Given the description of an element on the screen output the (x, y) to click on. 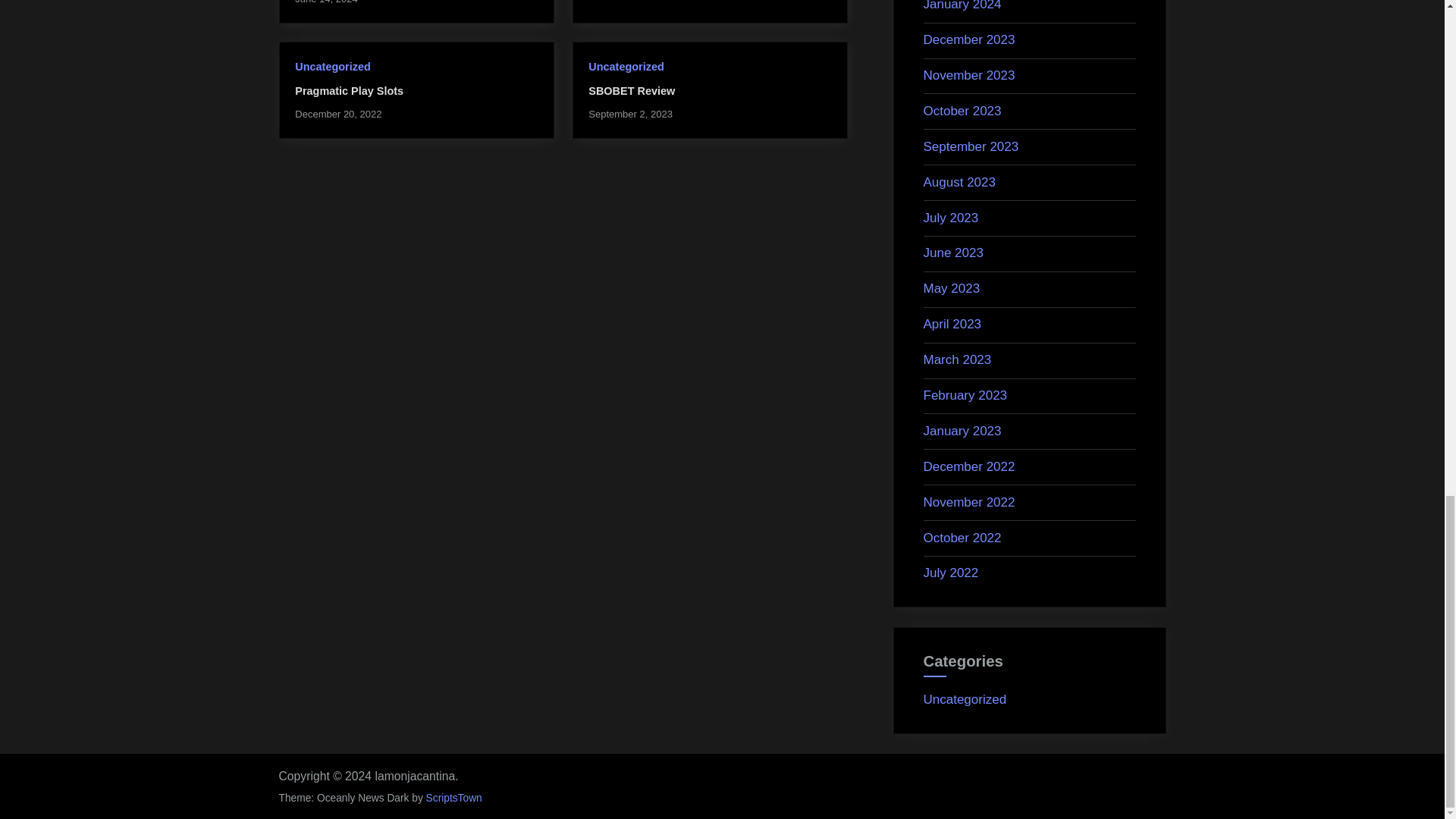
June 2023 (953, 252)
Pragmatic Play Slots (349, 91)
December 2023 (968, 39)
Uncategorized (332, 66)
July 2023 (950, 217)
SBOBET Review (631, 91)
January 2024 (962, 5)
October 2023 (962, 110)
Uncategorized (625, 66)
September 2023 (971, 146)
